Given the description of an element on the screen output the (x, y) to click on. 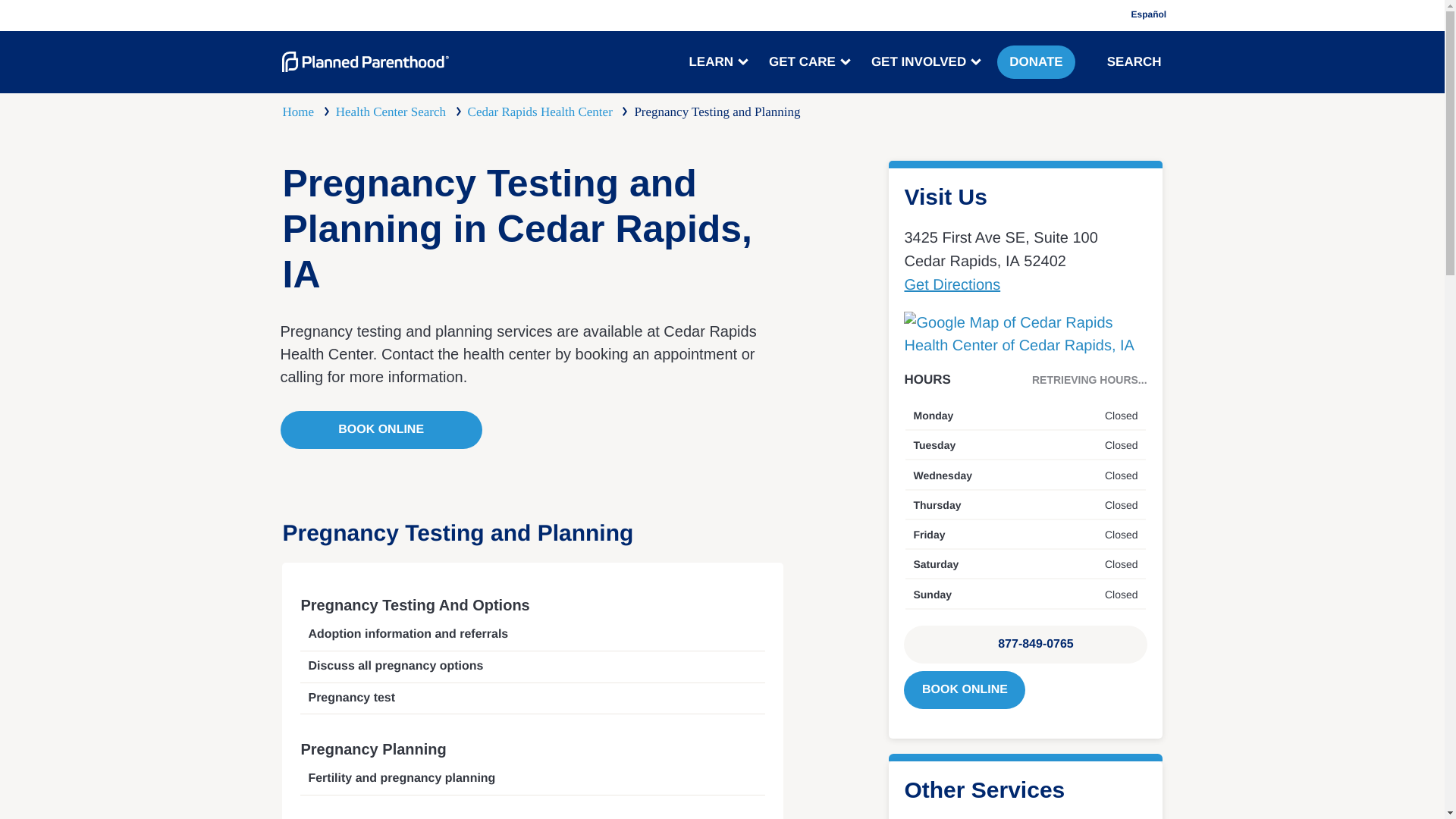
Back to home (365, 61)
GET INVOLVED (924, 62)
OPEN SEARCH (1096, 61)
LEARN (717, 62)
GET CARE (808, 62)
